Given the description of an element on the screen output the (x, y) to click on. 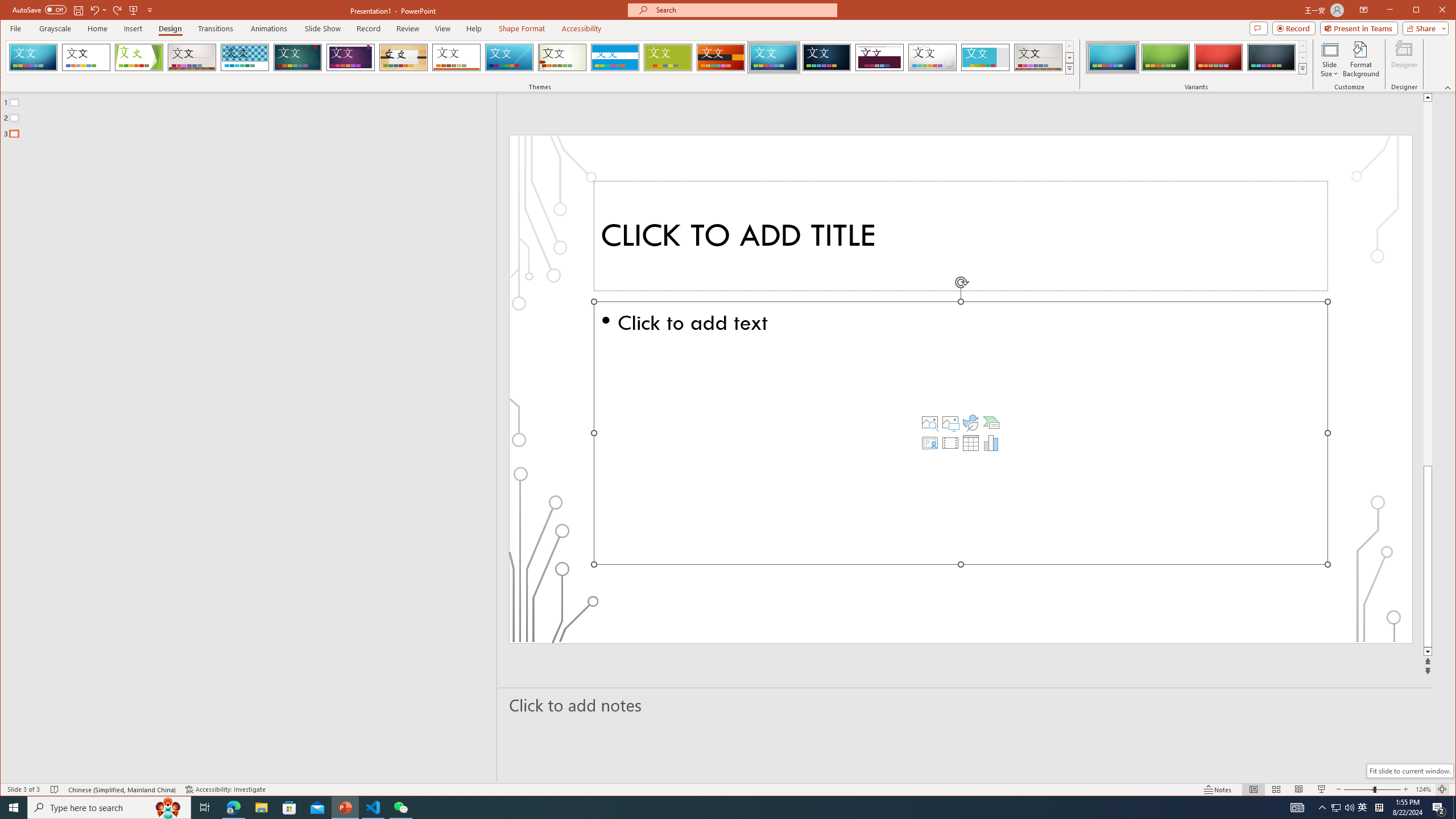
Fit slide to current window. (1410, 771)
Ion Boardroom (350, 57)
Basis (668, 57)
